Given the description of an element on the screen output the (x, y) to click on. 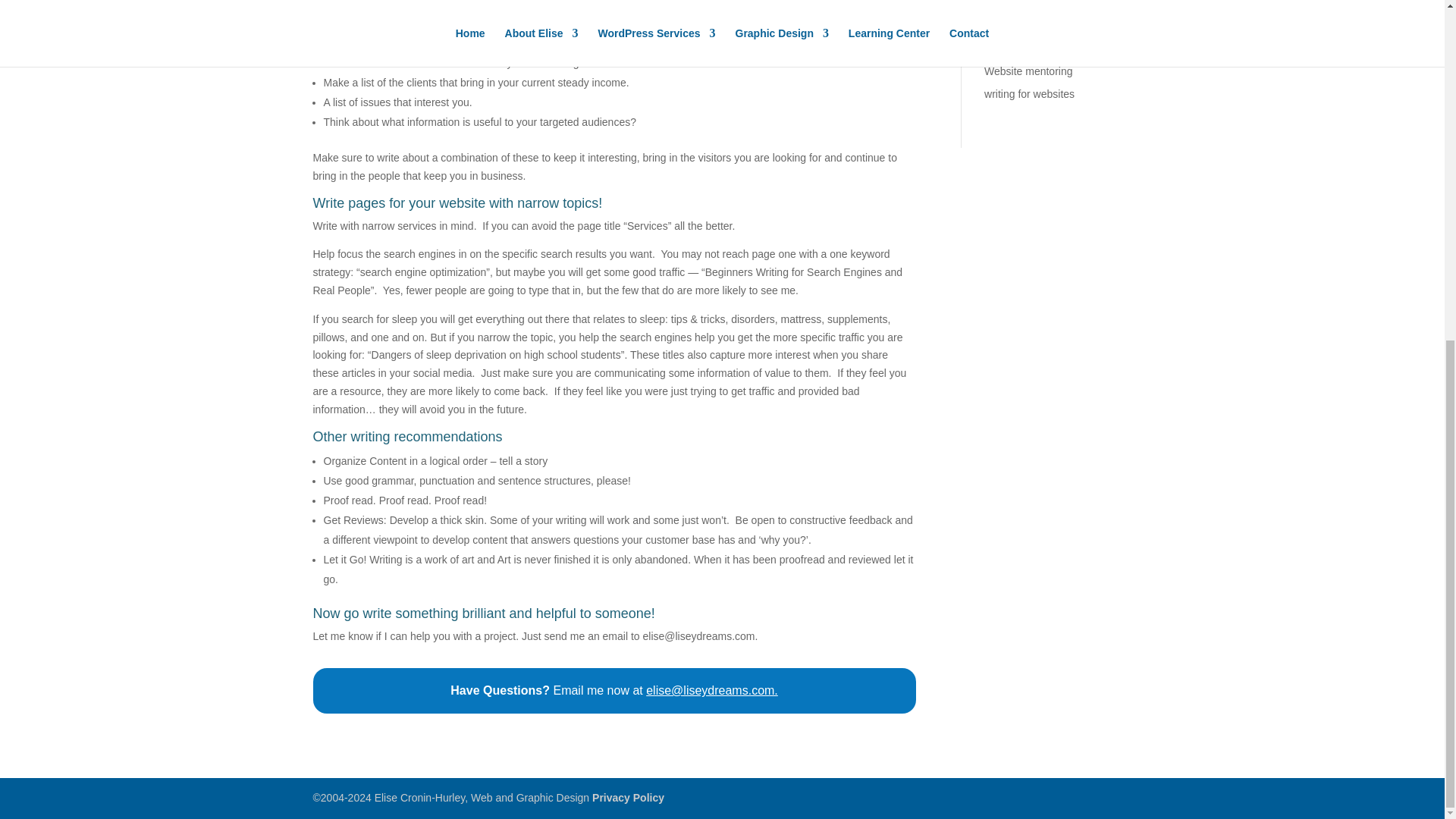
Volunteering (1013, 47)
Organizational Management (1051, 3)
writing for websites (1029, 93)
Website mentoring (1027, 70)
Privacy Policy (627, 797)
Search Engine Optimization (1050, 24)
